Given the description of an element on the screen output the (x, y) to click on. 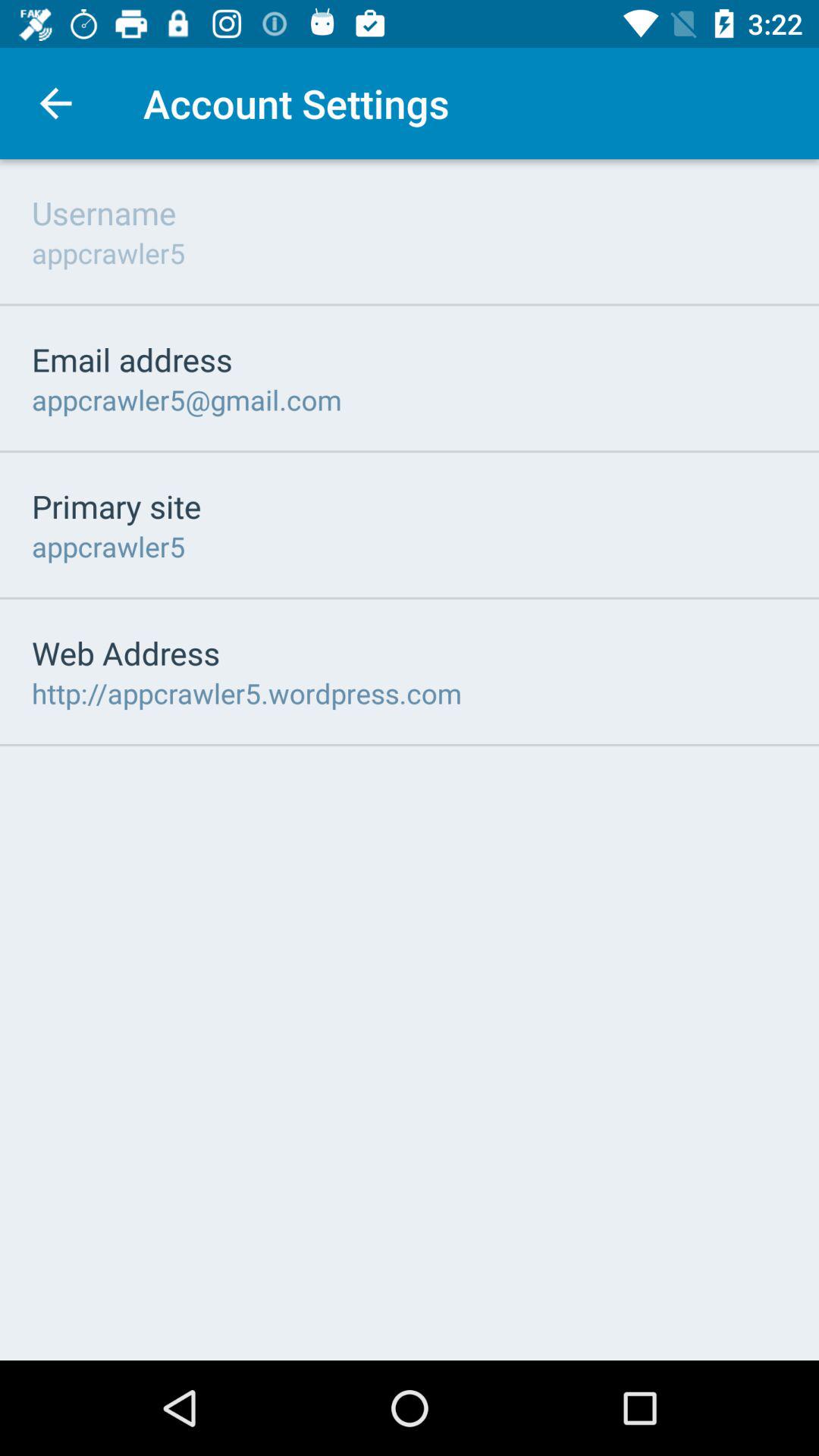
swipe to primary site icon (116, 505)
